Given the description of an element on the screen output the (x, y) to click on. 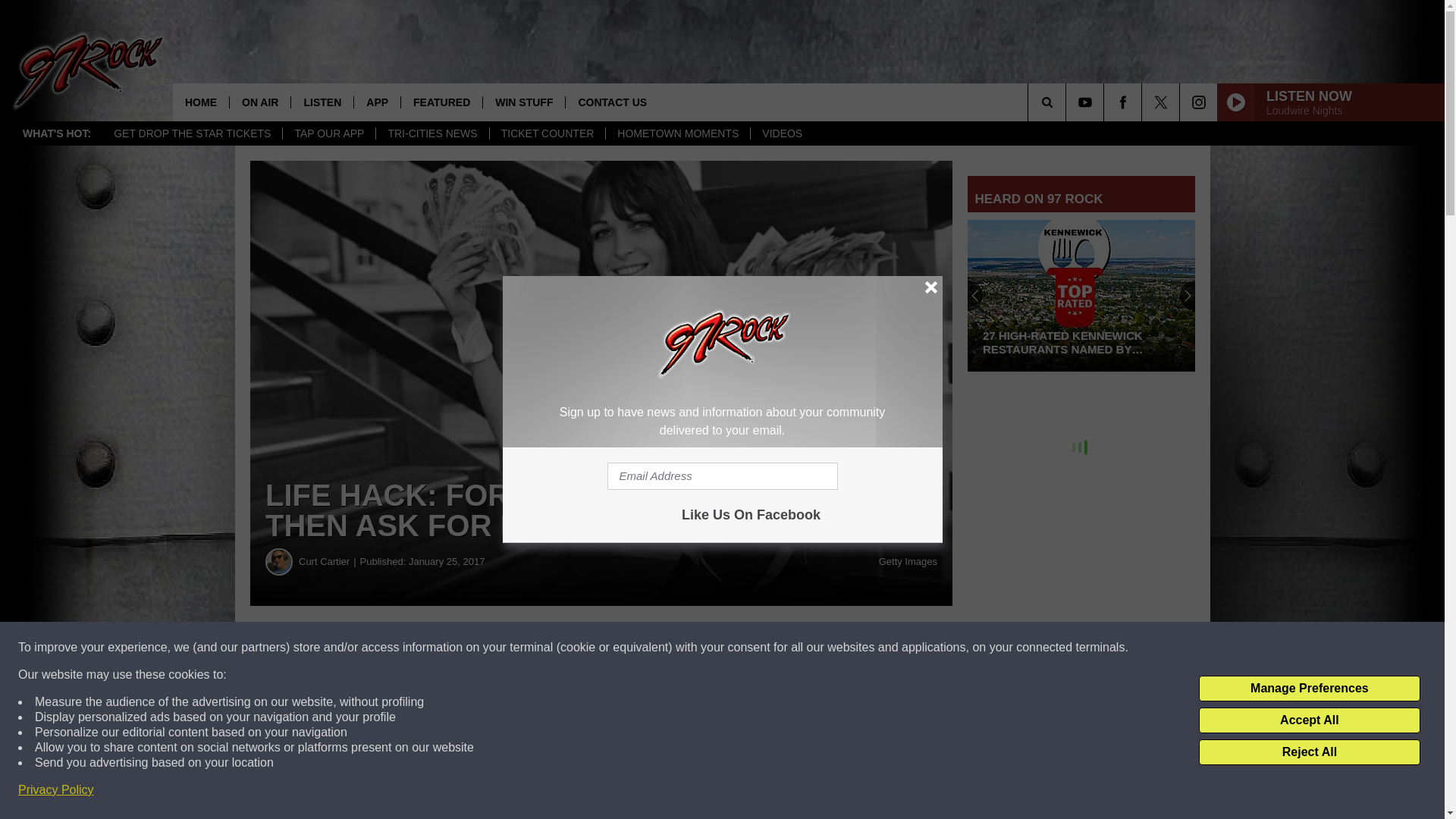
WHAT'S HOT: (56, 133)
Email Address (722, 475)
Share on Facebook (460, 647)
ON AIR (258, 102)
TAP OUR APP (328, 133)
Share on Twitter (741, 647)
APP (376, 102)
Accept All (1309, 720)
GET DROP THE STAR TICKETS (191, 133)
HOME (200, 102)
VIDEOS (781, 133)
Privacy Policy (55, 789)
TRI-CITIES NEWS (431, 133)
SEARCH (1068, 102)
LISTEN (321, 102)
